Given the description of an element on the screen output the (x, y) to click on. 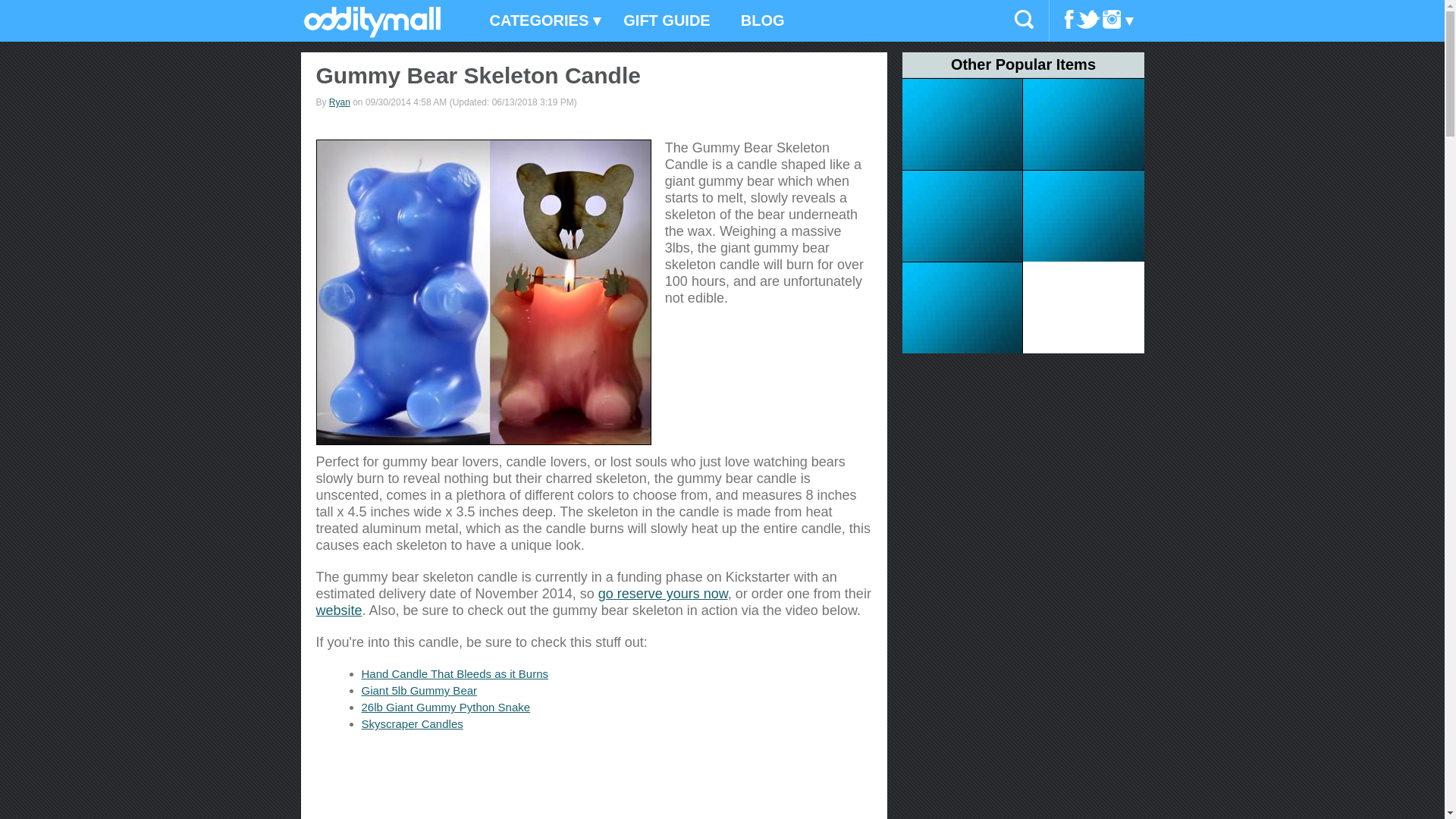
26lb Giant Gummy Python Snake (445, 707)
BLOG (762, 20)
Unique Gifts - Unusual Gift Ideas (371, 32)
Giant 5lb Gummy Bear (419, 689)
website (338, 610)
CATEGORIES (541, 20)
go reserve yours now (663, 593)
Gummy Bear Skeleton Candle (482, 292)
Ryan (339, 102)
GIFT GUIDE (666, 20)
Hand Candle That Bleeds as it Burns (454, 673)
Skyscraper Candles (412, 723)
